Given the description of an element on the screen output the (x, y) to click on. 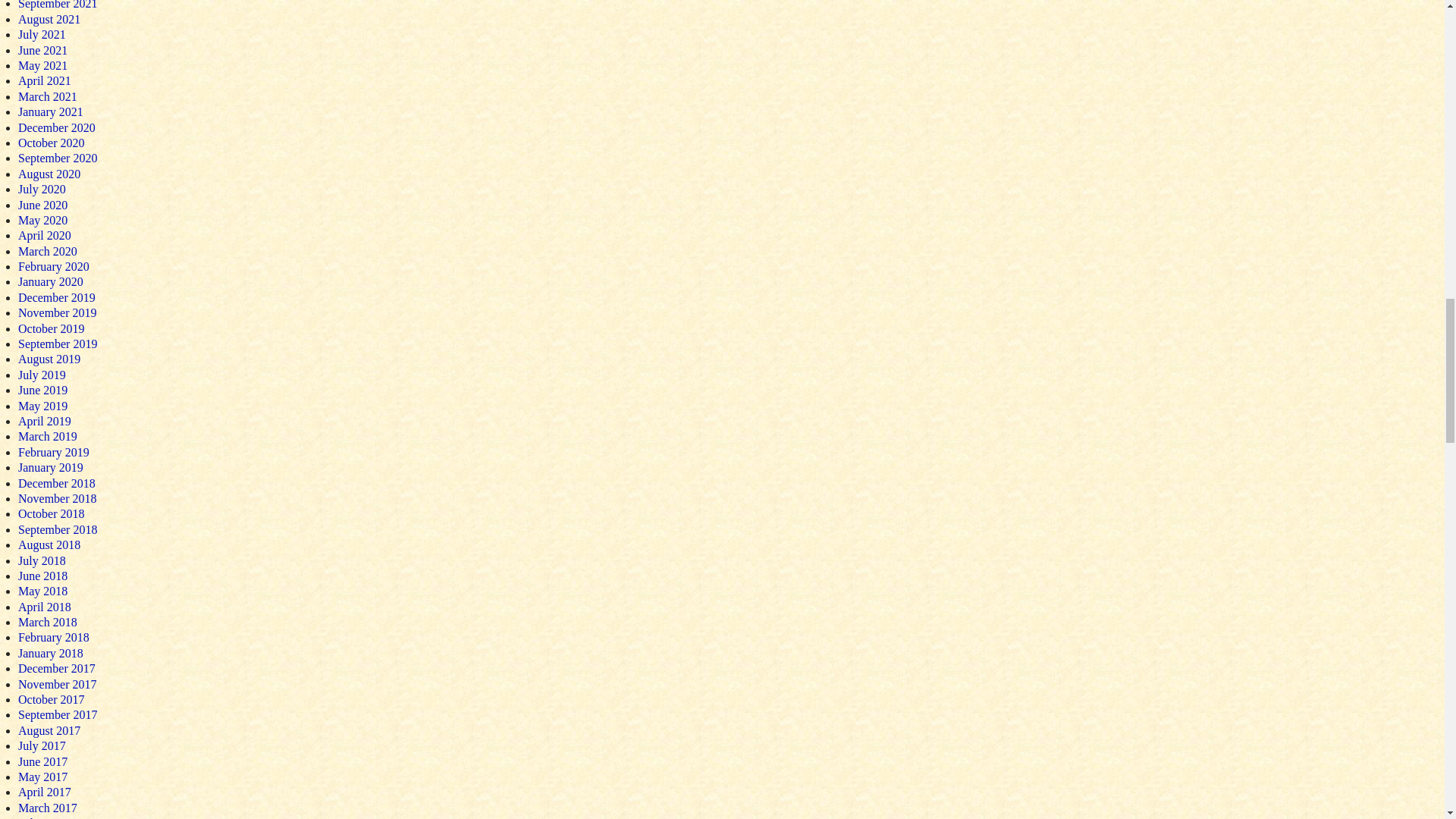
May 2021 (41, 65)
September 2021 (57, 4)
April 2021 (44, 80)
August 2021 (48, 19)
July 2021 (41, 33)
June 2021 (41, 50)
